Given the description of an element on the screen output the (x, y) to click on. 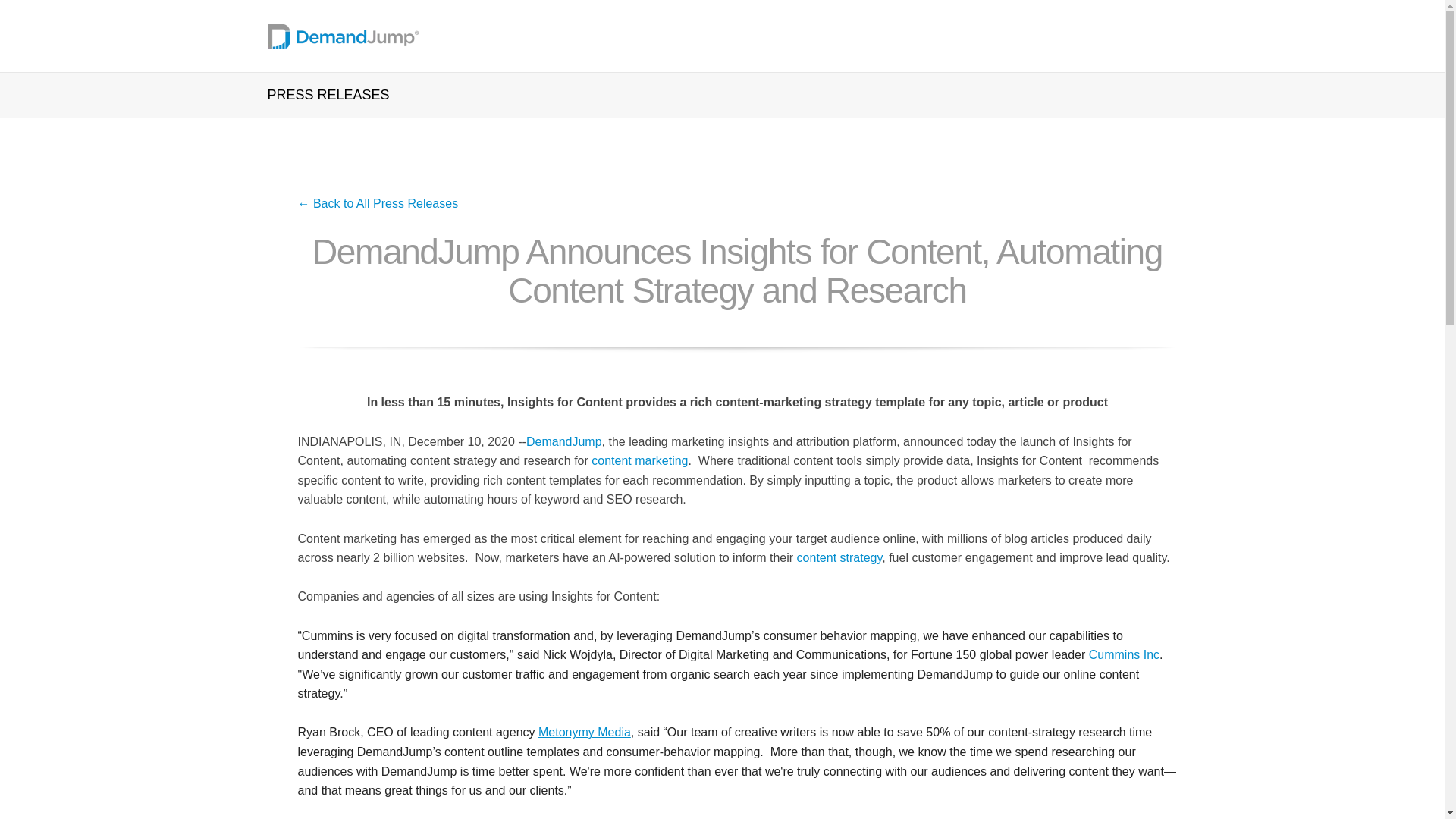
DemandJump (563, 440)
content strategy (839, 557)
Cummins Inc (1123, 654)
content marketing (638, 460)
